Given the description of an element on the screen output the (x, y) to click on. 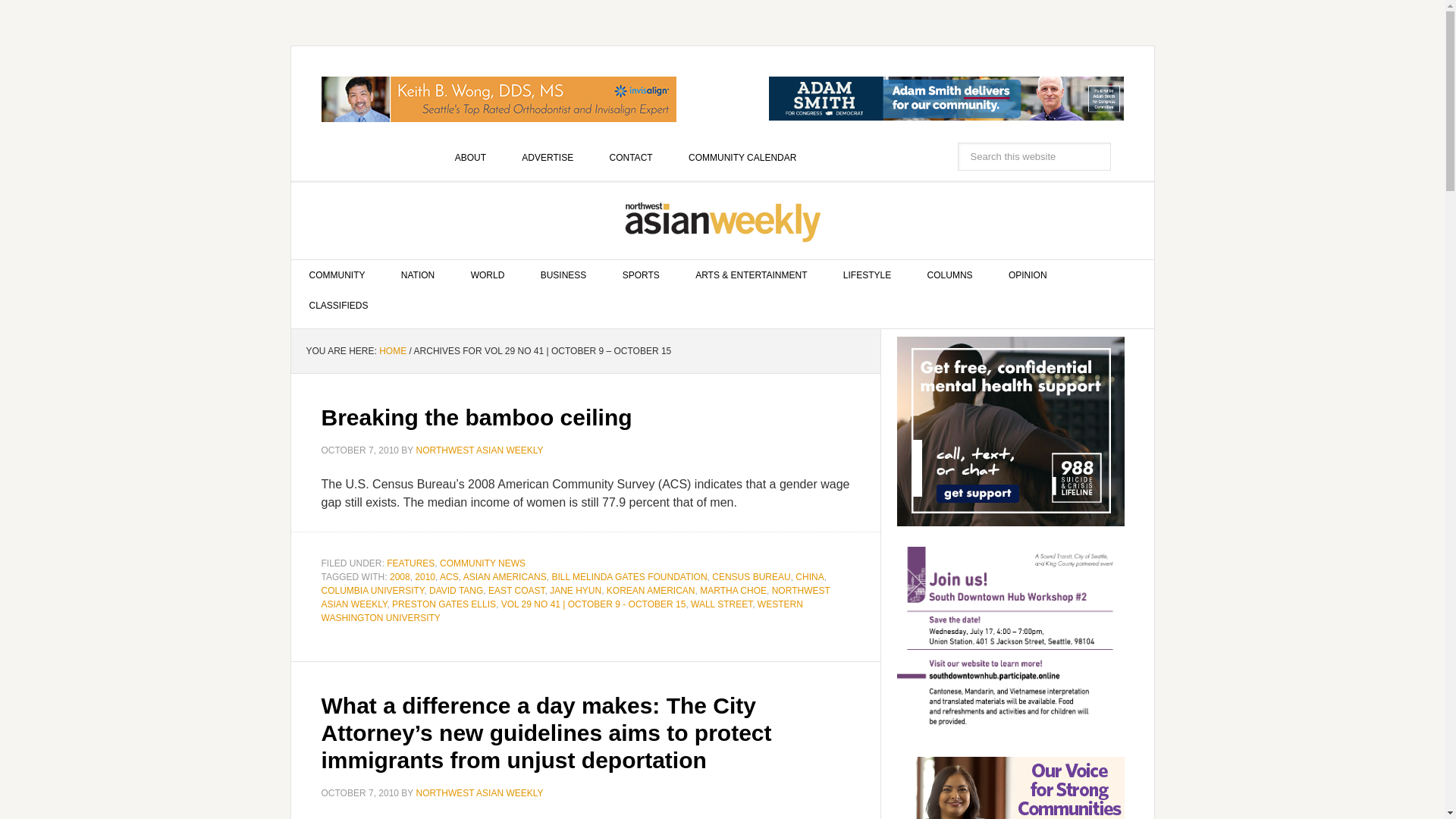
FEATURES (410, 562)
CONTACT (631, 157)
OPINION (1027, 275)
ABOUT (469, 157)
NORTHWEST ASIAN WEEKLY (478, 450)
NORTHWEST ASIAN WEEKLY (722, 221)
Breaking the bamboo ceiling (476, 416)
CLASSIFIEDS (339, 305)
COMMUNITY (337, 275)
NATION (417, 275)
COMMUNITY CALENDAR (741, 157)
ADVERTISE (547, 157)
BUSINESS (563, 275)
LIFESTYLE (866, 275)
